Given the description of an element on the screen output the (x, y) to click on. 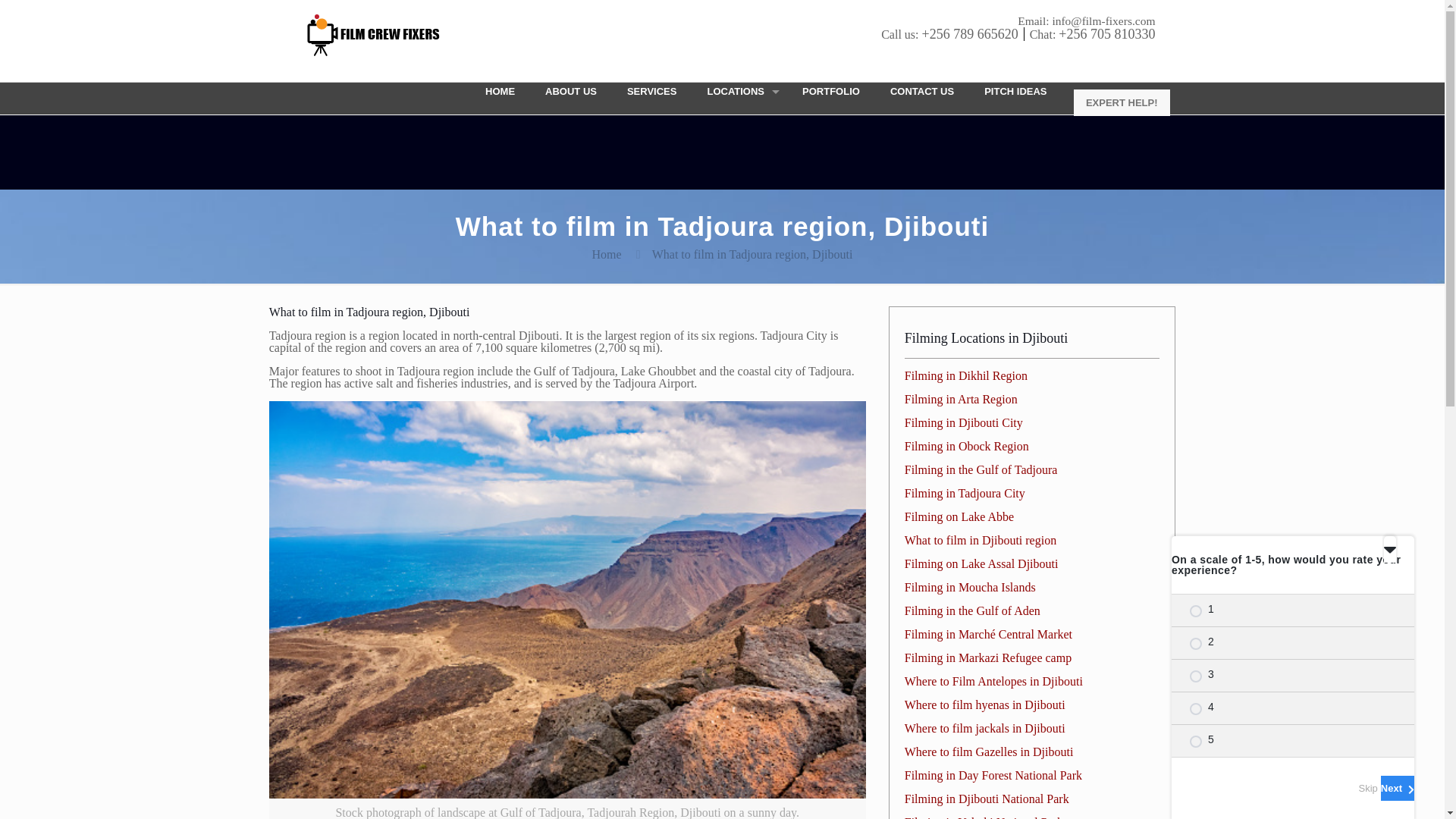
ABOUT US (570, 91)
CONTACT US (922, 91)
SERVICES (652, 91)
LOCATIONS (739, 91)
PITCH IDEAS (1015, 91)
HOME (499, 91)
PORTFOLIO (831, 91)
EXPERT HELP! (1122, 102)
Home (606, 254)
Africa Fixers (385, 34)
